Given the description of an element on the screen output the (x, y) to click on. 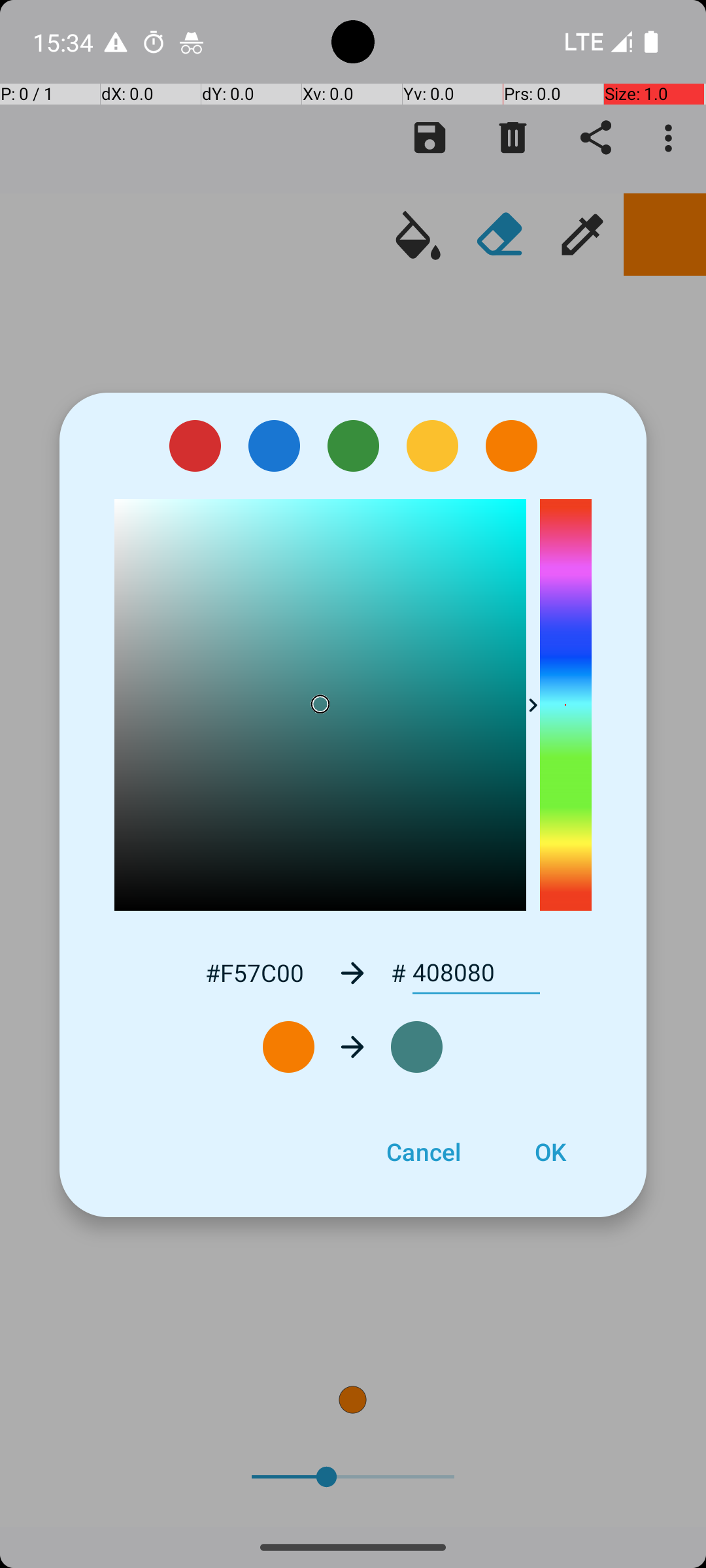
#F57C00 Element type: android.widget.TextView (254, 972)
# Element type: android.widget.TextView (397, 972)
408080 Element type: android.widget.EditText (475, 972)
